Given the description of an element on the screen output the (x, y) to click on. 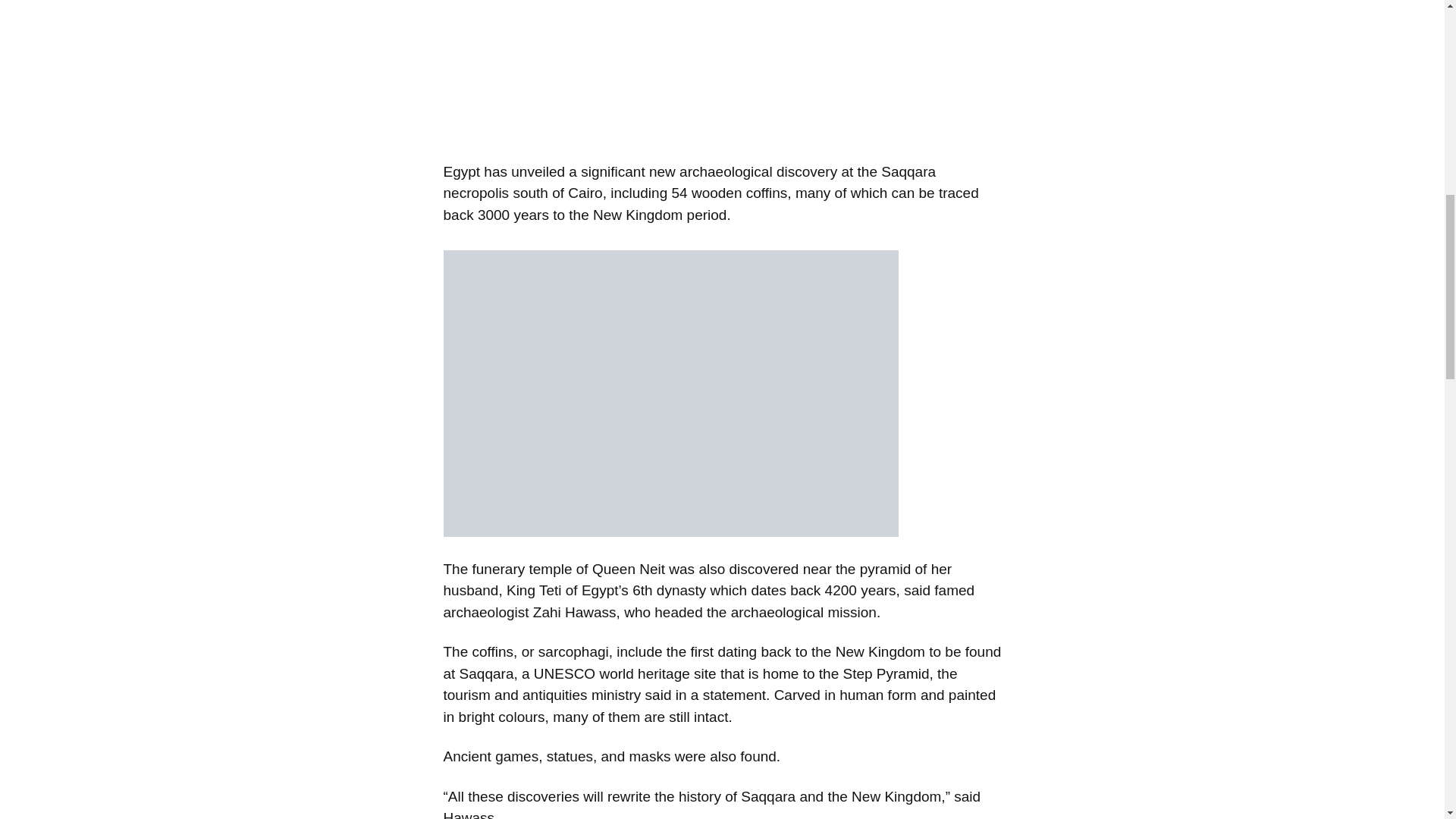
Advertisement (275, 74)
